Given the description of an element on the screen output the (x, y) to click on. 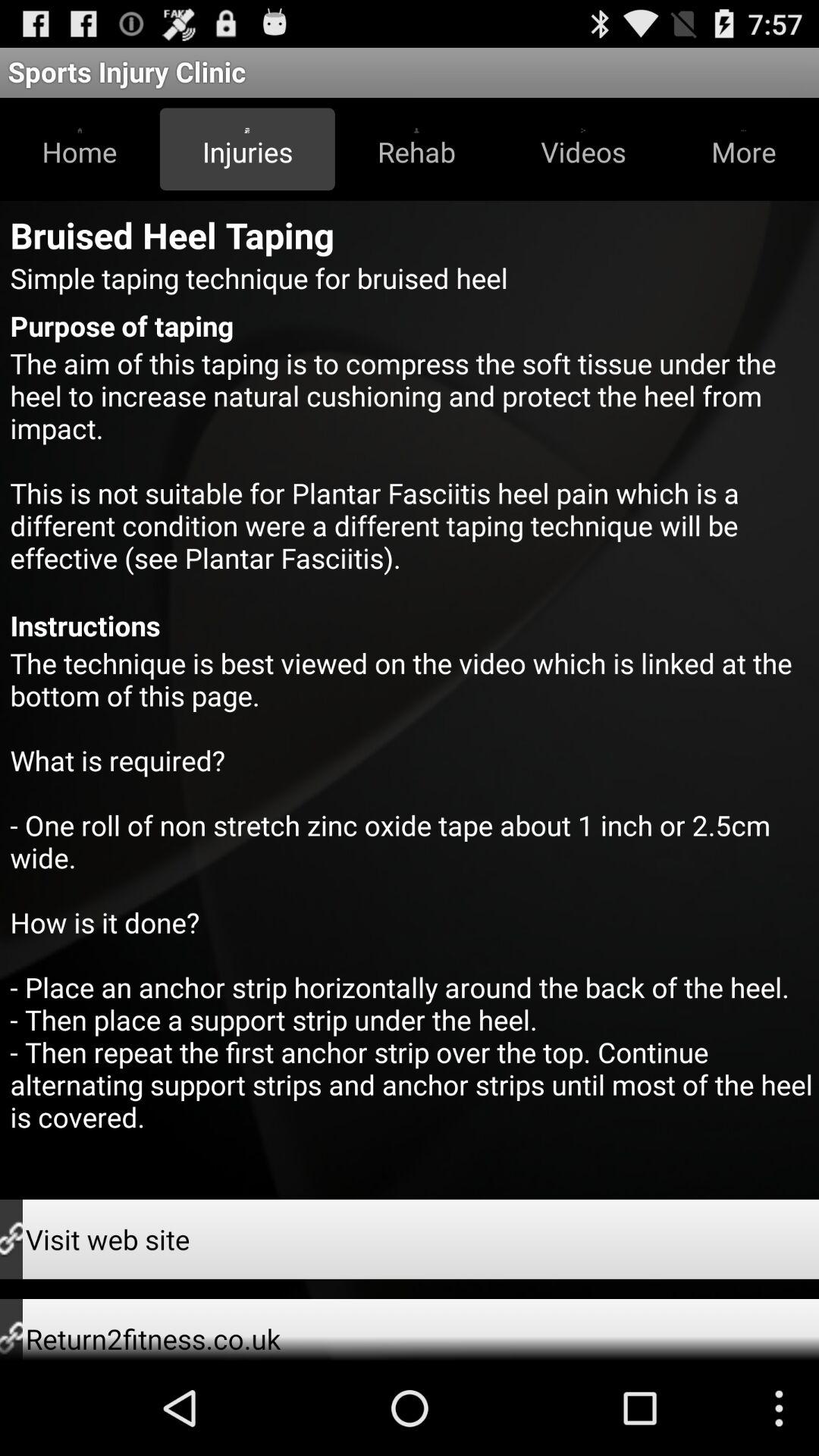
choose icon below sports injury clinic app (743, 149)
